Given the description of an element on the screen output the (x, y) to click on. 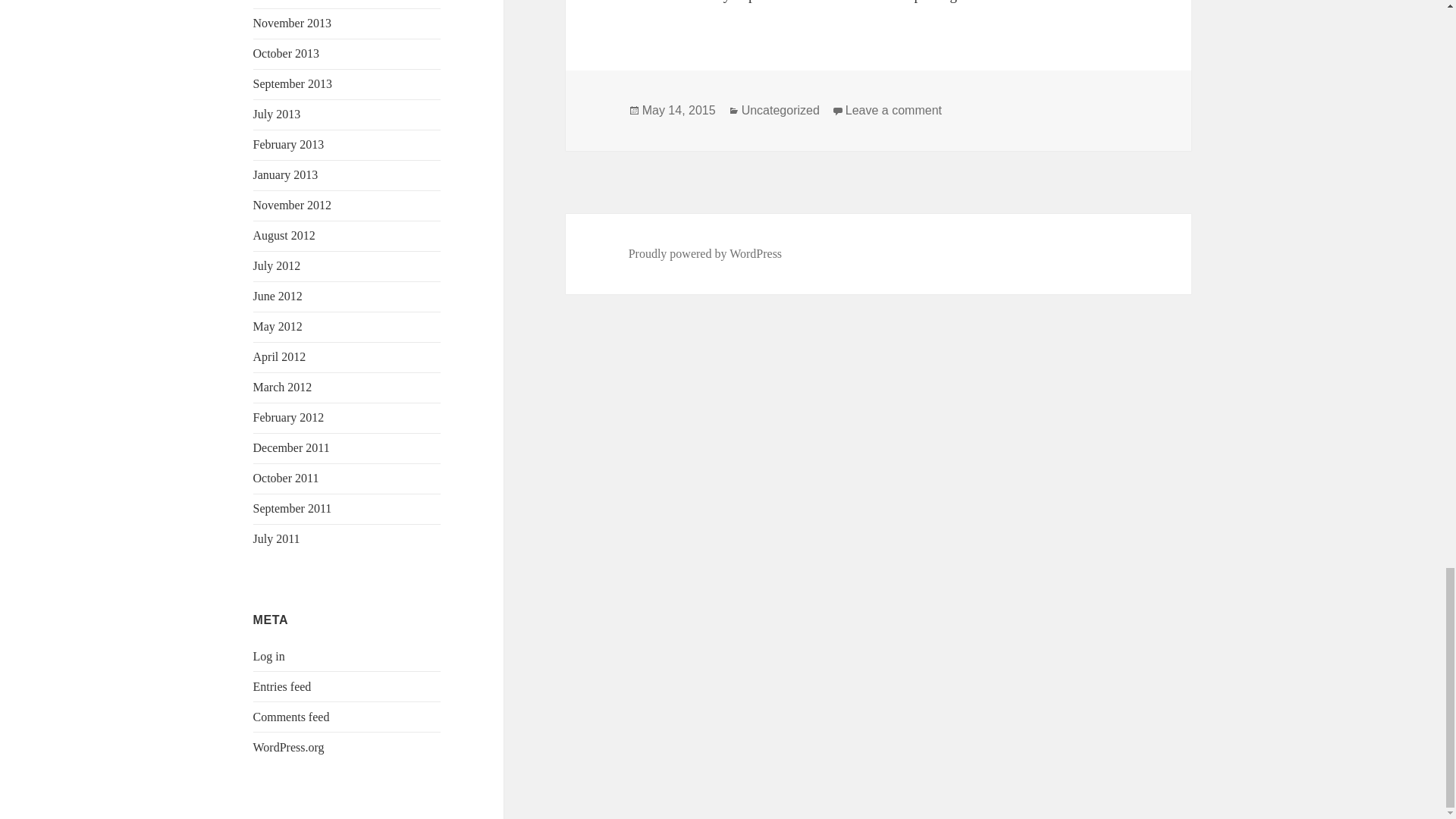
July 2013 (277, 113)
October 2013 (286, 52)
November 2013 (292, 22)
September 2013 (292, 83)
